Given the description of an element on the screen output the (x, y) to click on. 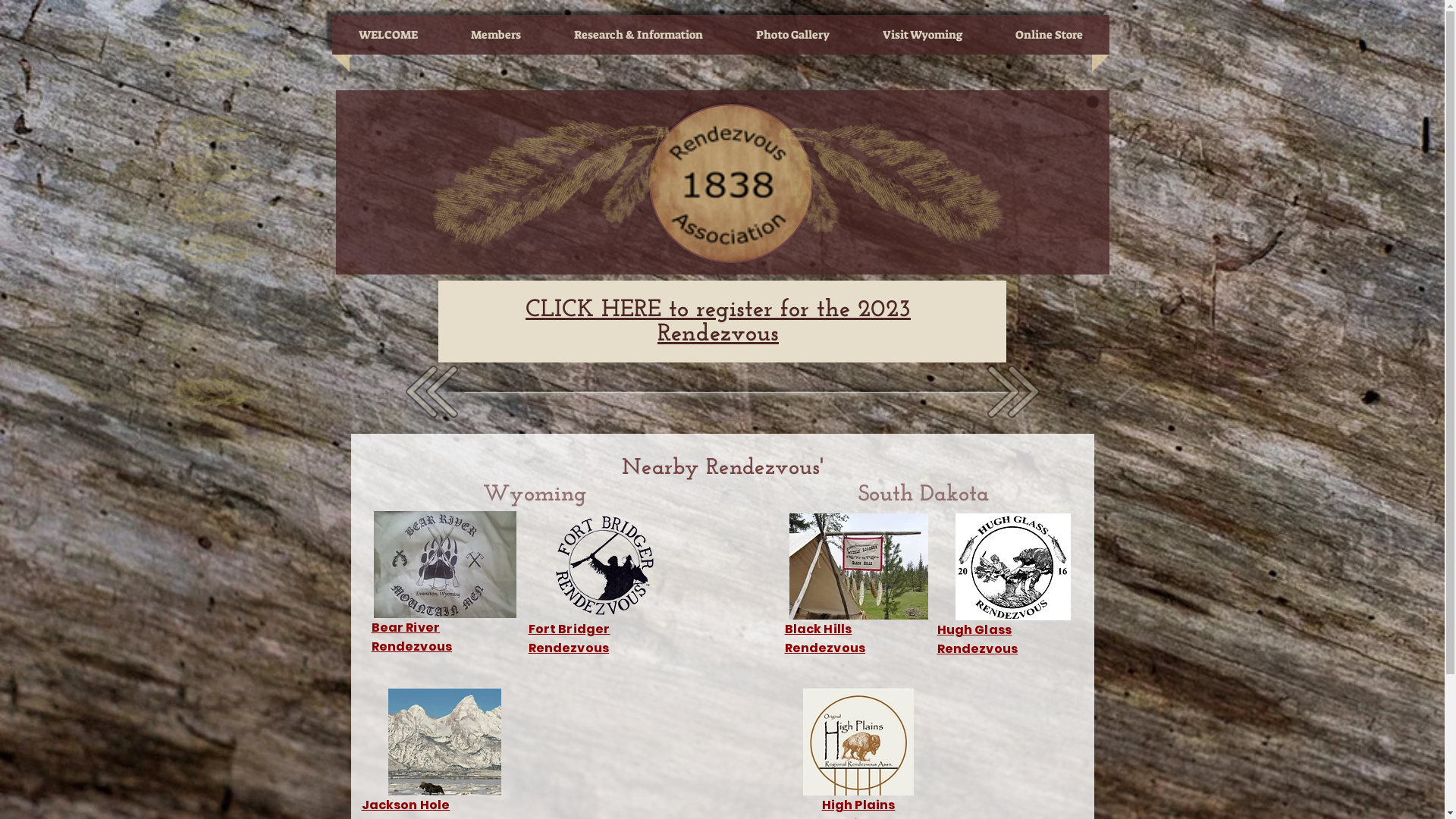
Online Store Element type: text (1049, 34)
WELCOME Element type: text (387, 34)
Members Element type: text (494, 34)
Black Hills Rendezvous Element type: text (824, 639)
Visit Wyoming Element type: text (922, 34)
Bear River Rendezvous Element type: text (411, 637)
Research & Information Element type: text (637, 34)
CLICK HERE to register for the 2023 Rendezvous Element type: text (717, 322)
Photo Gallery Element type: text (791, 34)
Fort Bridger Rendezvous Element type: text (568, 639)
Hugh Glass Rendezvous Element type: text (977, 639)
